Given the description of an element on the screen output the (x, y) to click on. 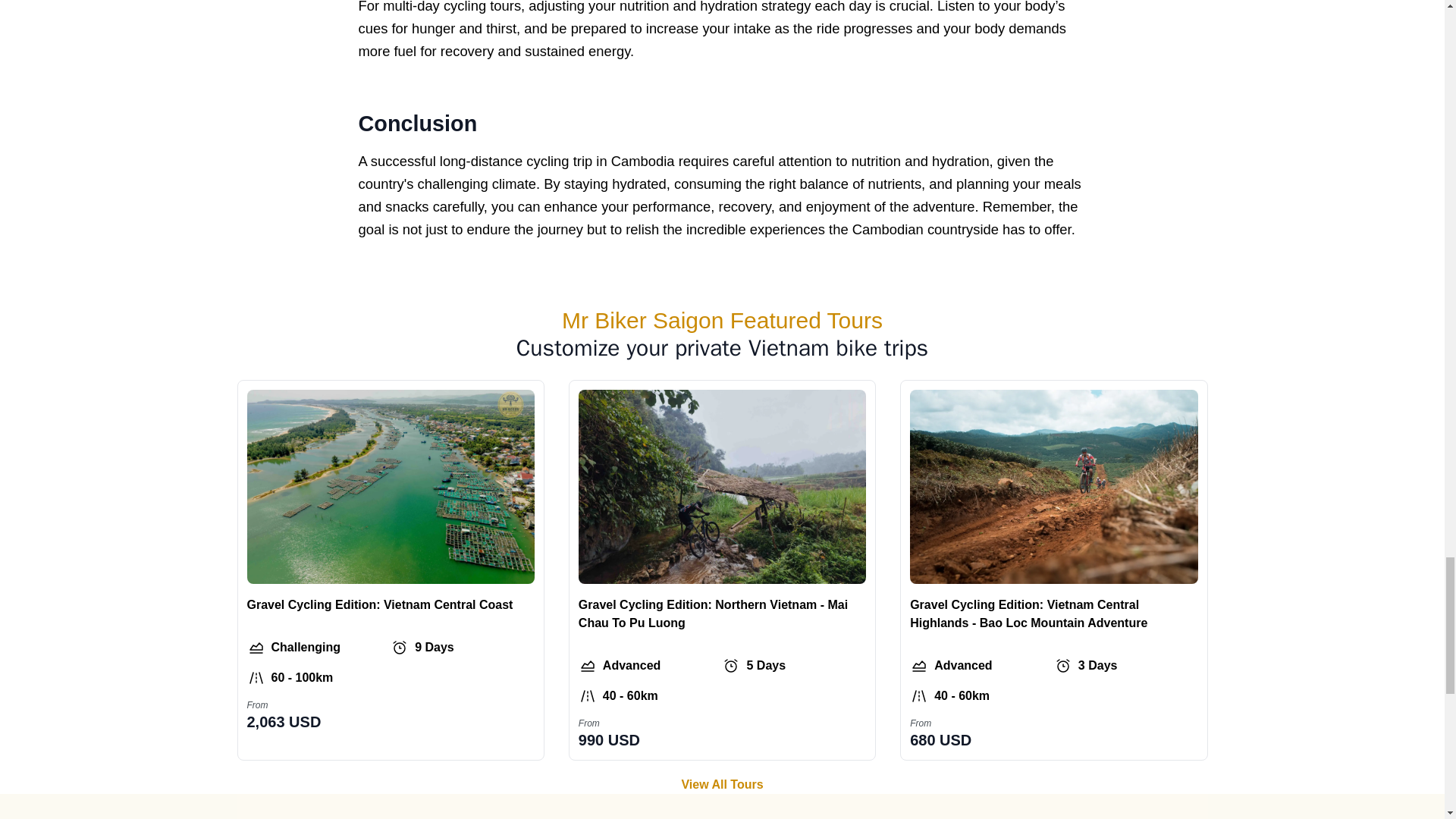
View All Tours (721, 784)
This is svgThis is svgThis is svgThis is svgThis is svg (399, 647)
This is svgThis is svgThis is svg (919, 665)
This is svgThis is svgThis is svgThis is svgThis is svg (730, 665)
This is svgThis is svgThis is svg (255, 647)
This is svgThis is svgThis is svg (587, 665)
This is svgThis is svgThis is svgThis is svgThis is svg (1062, 665)
